Given the description of an element on the screen output the (x, y) to click on. 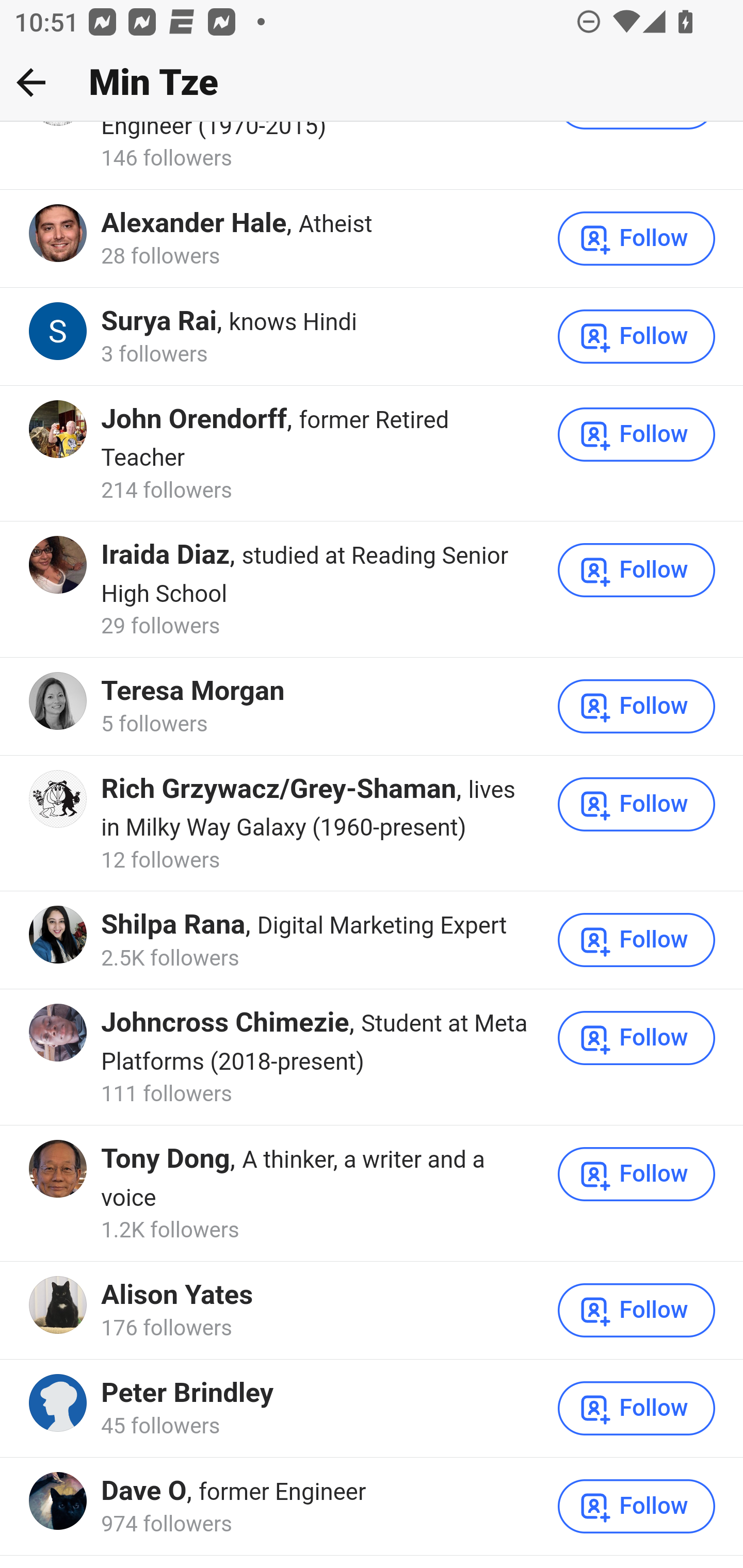
Back (30, 82)
Profile photo for Alexander Hale (58, 234)
Alexander Hale (193, 224)
Follow Alexander Hale Follow (636, 239)
Profile photo for Surya Rai (58, 332)
Surya Rai (159, 321)
Follow Surya Rai Follow (636, 336)
Profile photo for John Orendorff (58, 429)
John Orendorff (195, 419)
Follow John Orendorff Follow (636, 434)
Profile photo for Iraida Diaz (58, 565)
Iraida Diaz (166, 556)
Follow Iraida Diaz Follow (636, 572)
Profile photo for Teresa Morgan (58, 702)
Teresa Morgan (193, 691)
Follow Teresa Morgan Follow (636, 706)
Profile photo for Rich Grzywacz/Grey-Shaman (58, 799)
Rich Grzywacz/Grey-Shaman (278, 789)
Follow Rich Grzywacz/Grey-Shaman Follow (636, 804)
Profile photo for Shilpa Rana (58, 934)
Shilpa Rana (173, 924)
Follow Shilpa Rana Follow (636, 941)
Profile photo for Johncross Chimezie (58, 1033)
Johncross Chimezie (225, 1023)
Follow Johncross Chimezie Follow (636, 1039)
Profile photo for Tony Dong (58, 1169)
Tony Dong (166, 1159)
Follow Tony Dong Follow (636, 1174)
Follow Tony Dong Follow (636, 1174)
Profile photo for Alison Yates (58, 1304)
Alison Yates (177, 1295)
Follow Alison Yates Follow (636, 1311)
Profile photo for Peter Brindley (58, 1404)
Peter Brindley (187, 1394)
Follow Peter Brindley Follow (636, 1409)
Profile photo for Dave O (58, 1501)
Dave O (144, 1491)
Follow Dave O Follow (636, 1506)
